Given the description of an element on the screen output the (x, y) to click on. 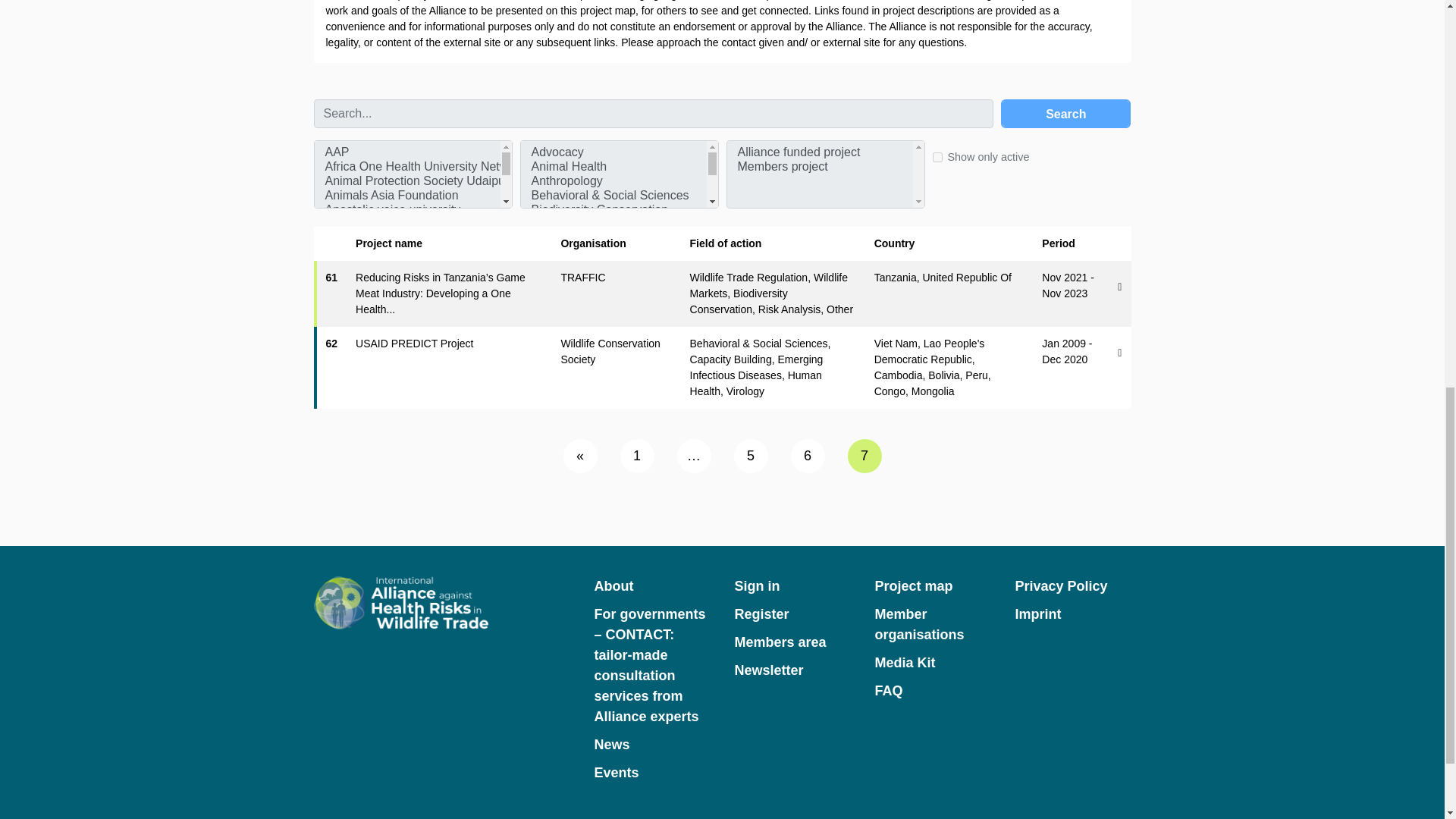
Sign in (791, 586)
Imprint (1072, 614)
1 (636, 455)
Media Kit (932, 662)
FAQ (932, 690)
Search (1066, 112)
Project map (932, 586)
Newsletter (791, 670)
Register (791, 614)
About (652, 586)
Events (652, 772)
true (937, 156)
7 (864, 455)
News (652, 744)
Privacy Policy (1072, 586)
